Given the description of an element on the screen output the (x, y) to click on. 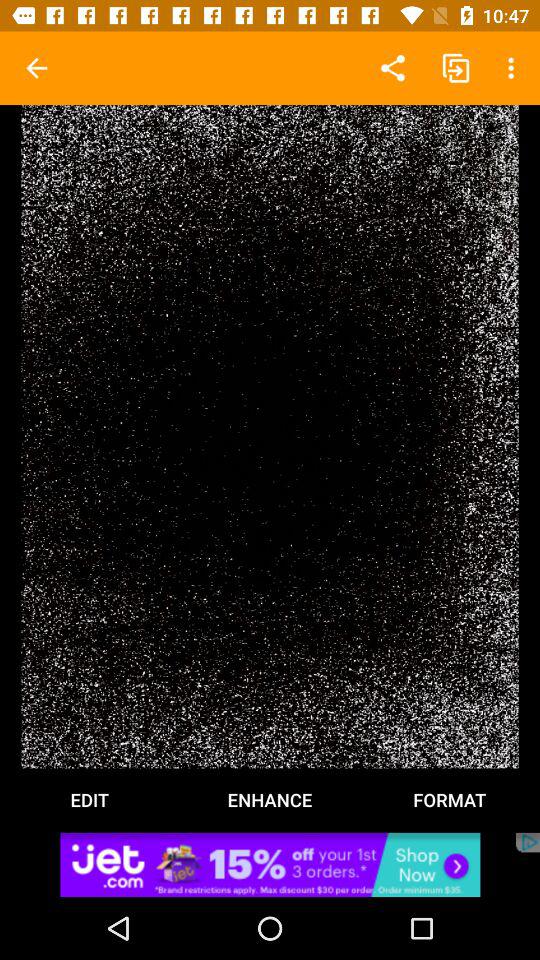
advertisement (270, 864)
